Given the description of an element on the screen output the (x, y) to click on. 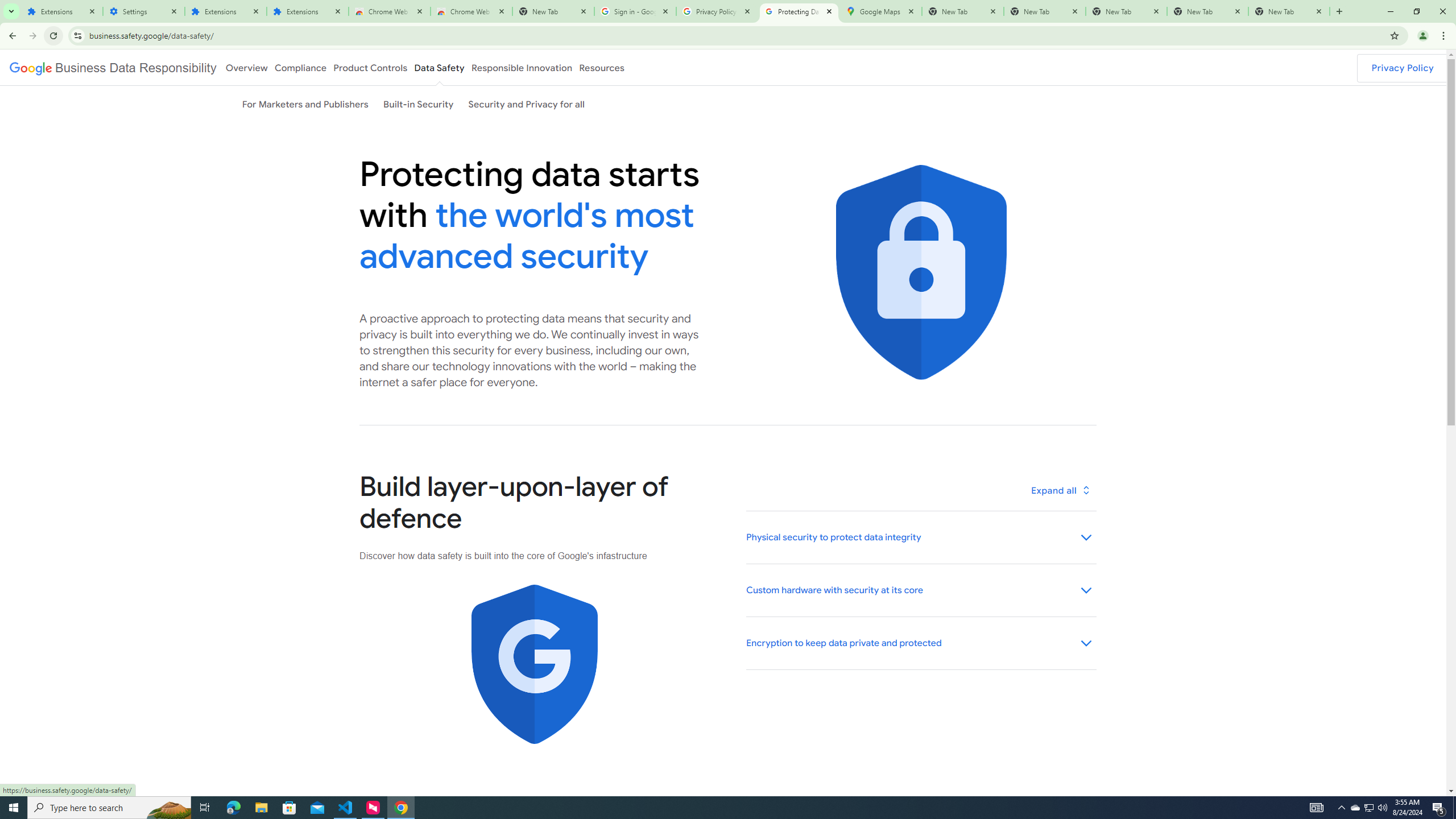
Custom hardware with security at its core (920, 590)
Address and search bar (735, 35)
Google logo (112, 67)
Extensions (61, 11)
Overview (245, 67)
Product Controls (370, 67)
Extensions (307, 11)
Extensions (225, 11)
Security and Privacy for all (526, 103)
